Given the description of an element on the screen output the (x, y) to click on. 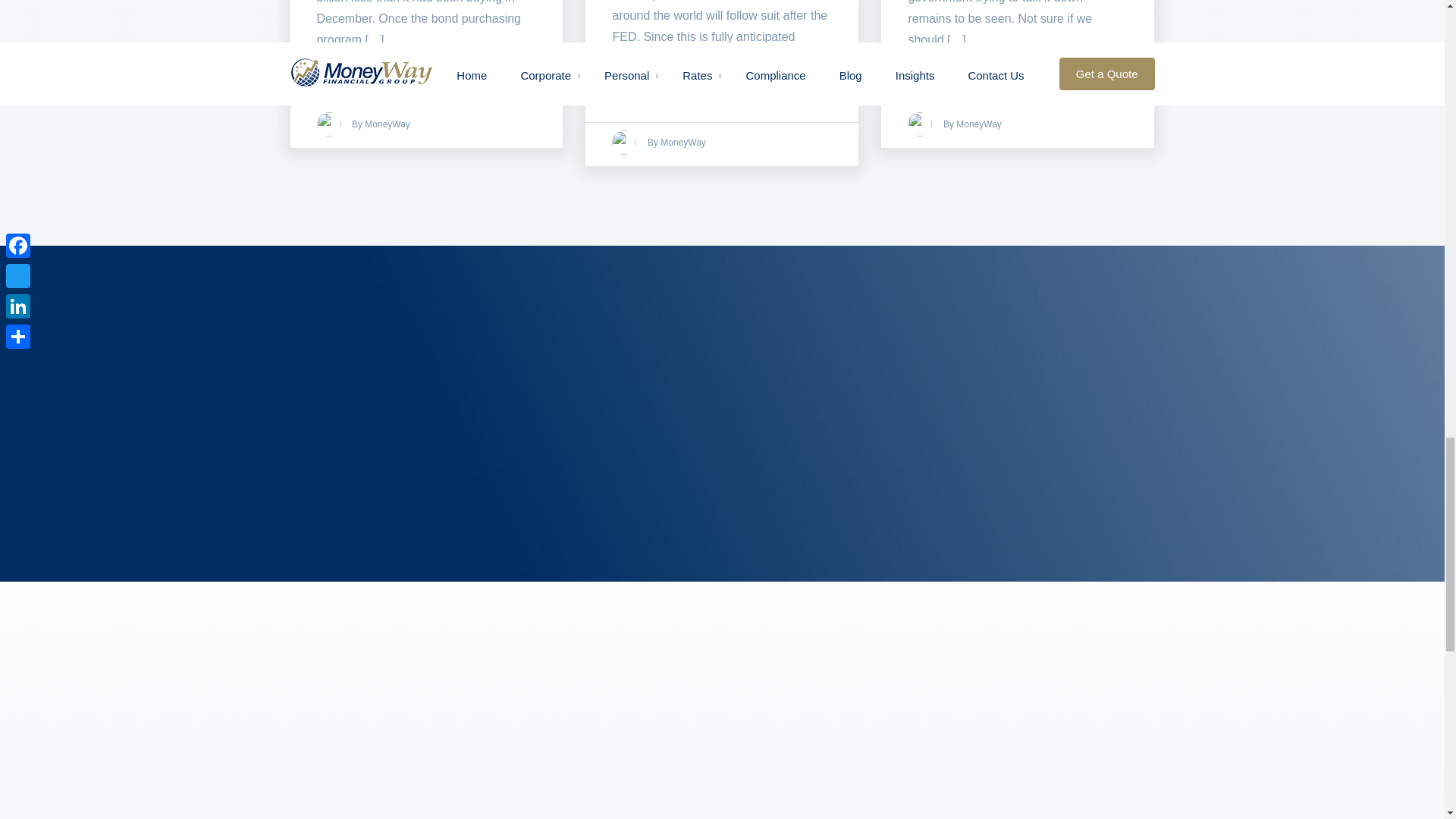
Sign Up (984, 757)
Learn More (638, 89)
Learn More (344, 70)
Learn More (934, 70)
